Given the description of an element on the screen output the (x, y) to click on. 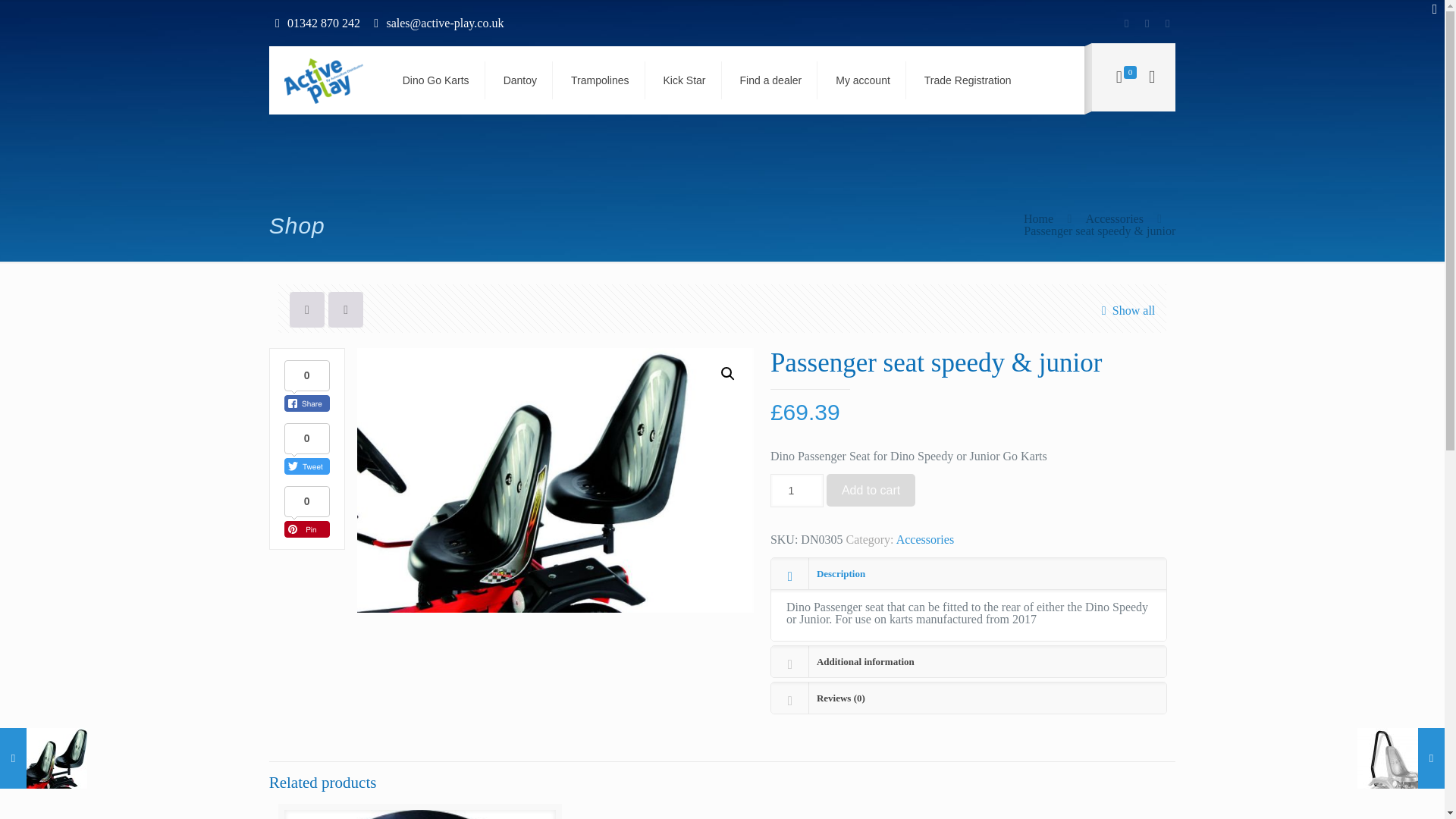
Twitter (1146, 23)
My account (863, 80)
Trampolines (600, 80)
1 (797, 490)
activeplay (322, 79)
Facebook (1126, 23)
Dantoy (520, 80)
Find a dealer (771, 80)
LinkedIn (1166, 23)
Trade Registration (967, 80)
